Given the description of an element on the screen output the (x, y) to click on. 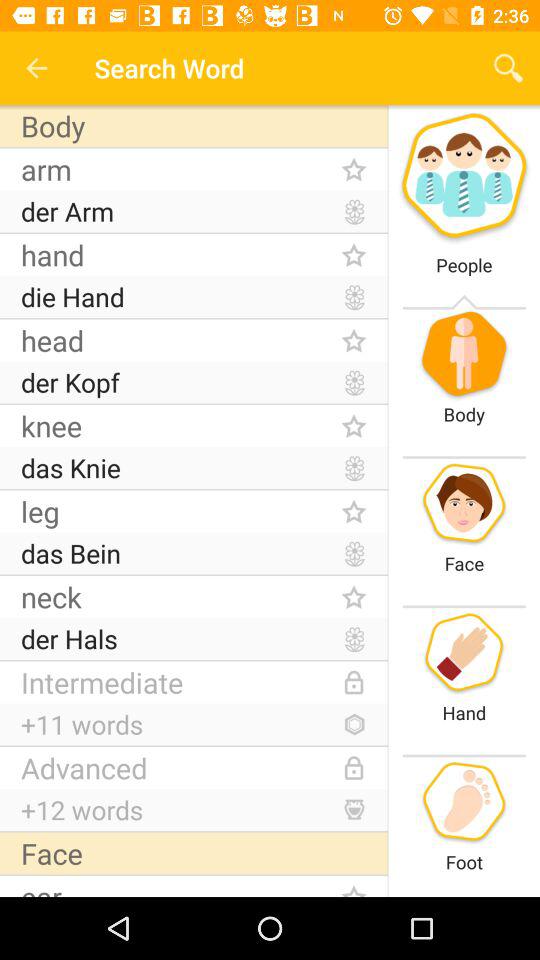
press icon to the left of the search word icon (36, 68)
